Given the description of an element on the screen output the (x, y) to click on. 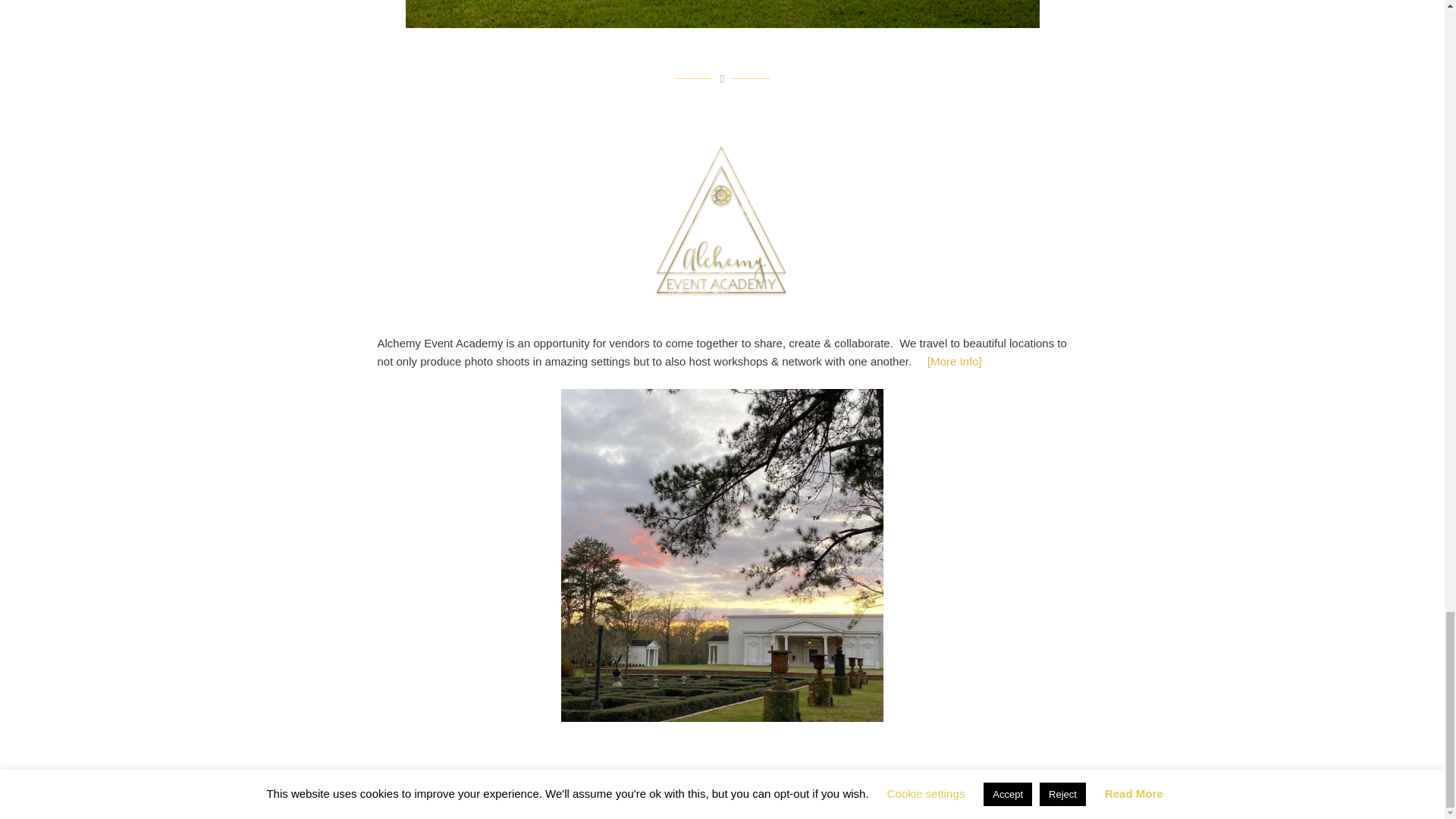
Home (651, 796)
